Given the description of an element on the screen output the (x, y) to click on. 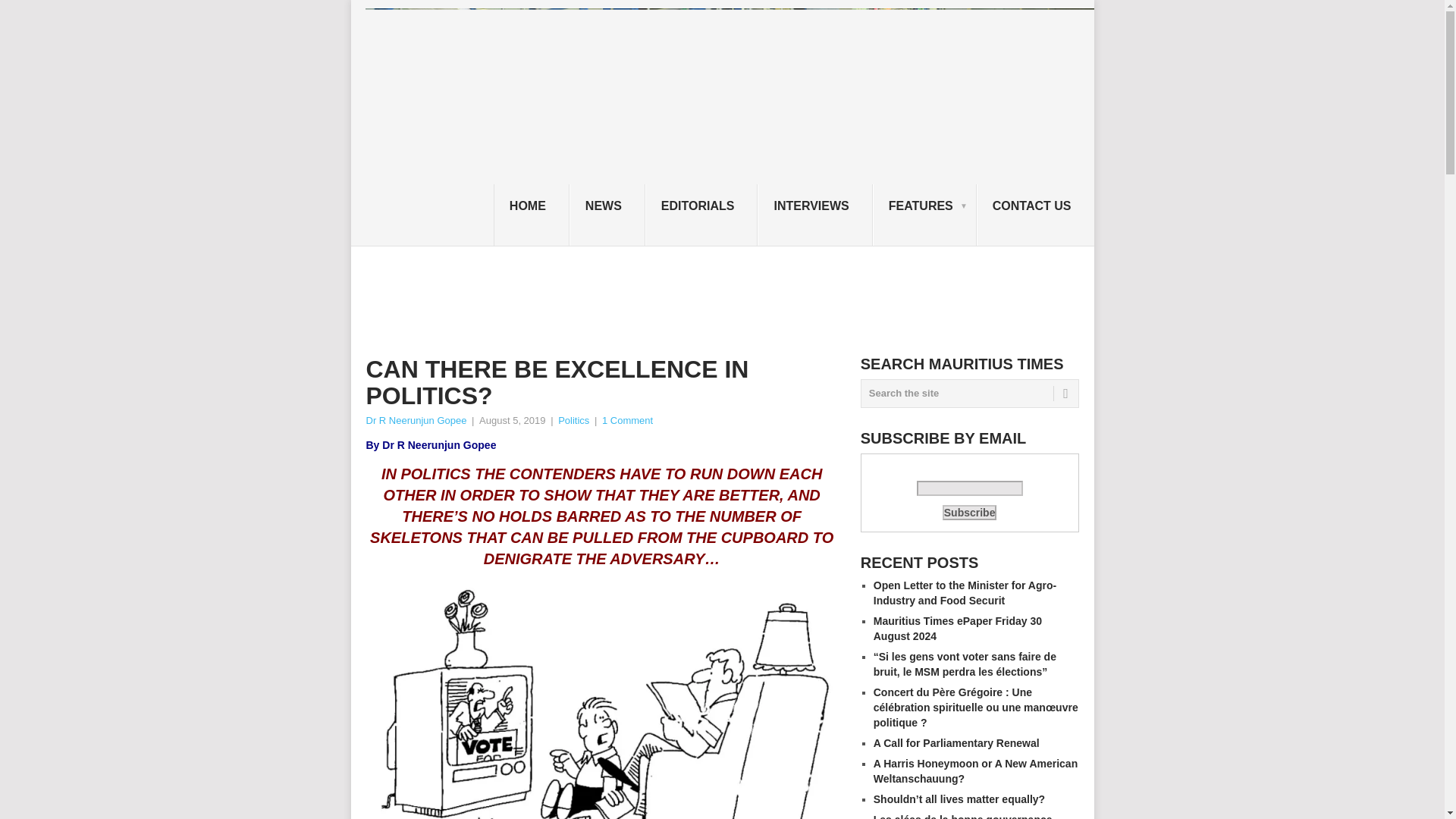
Posts by Dr R Neerunjun Gopee (415, 419)
NEWS (607, 215)
1 Comment (627, 419)
Search the site (969, 393)
INTERVIEWS (814, 215)
Subscribe (969, 512)
FEATURES (924, 215)
EDITORIALS (701, 215)
CONTACT US (1035, 215)
Politics (573, 419)
